Given the description of an element on the screen output the (x, y) to click on. 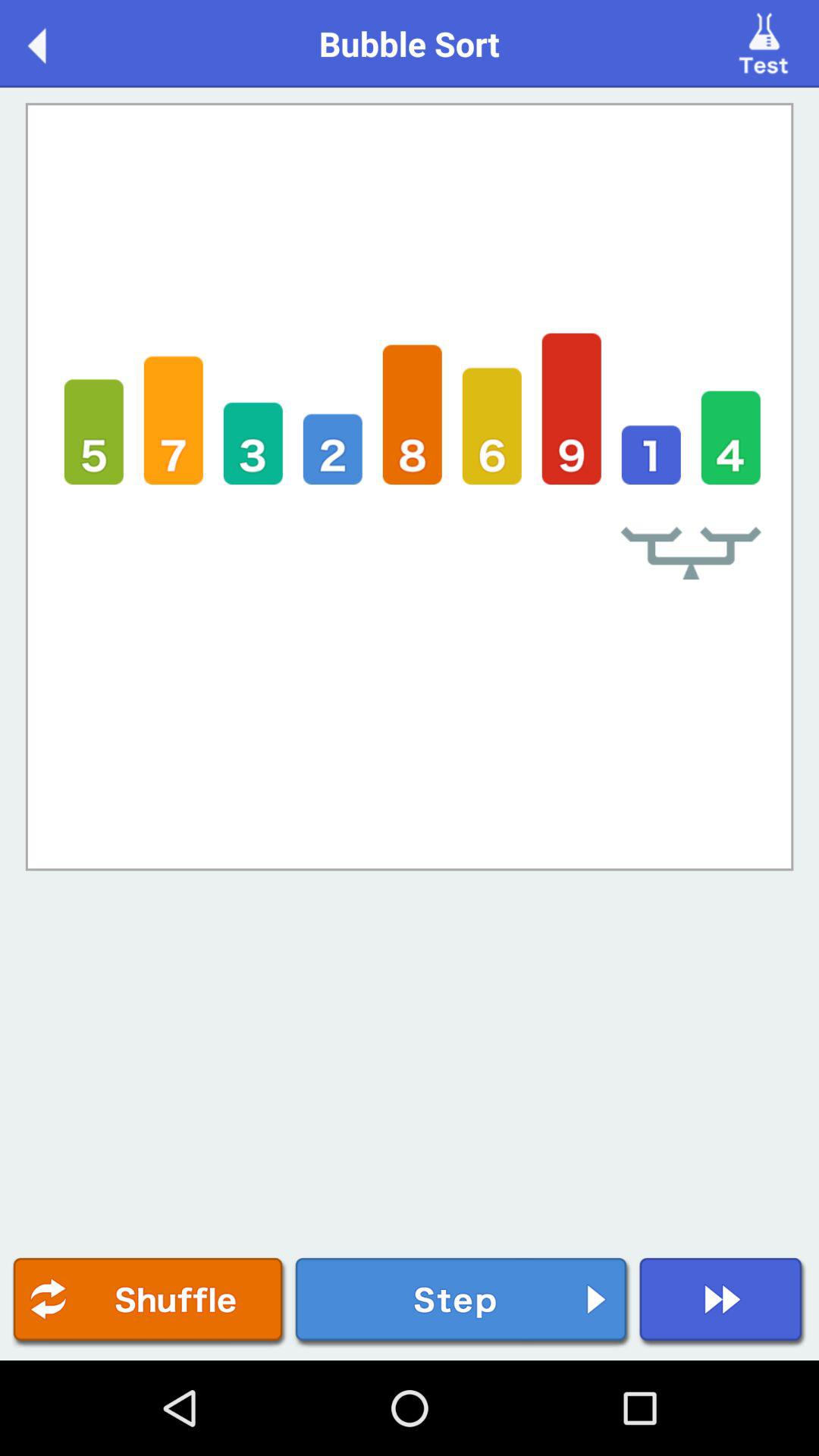
tap the icon next to the bubble sort icon (52, 42)
